Given the description of an element on the screen output the (x, y) to click on. 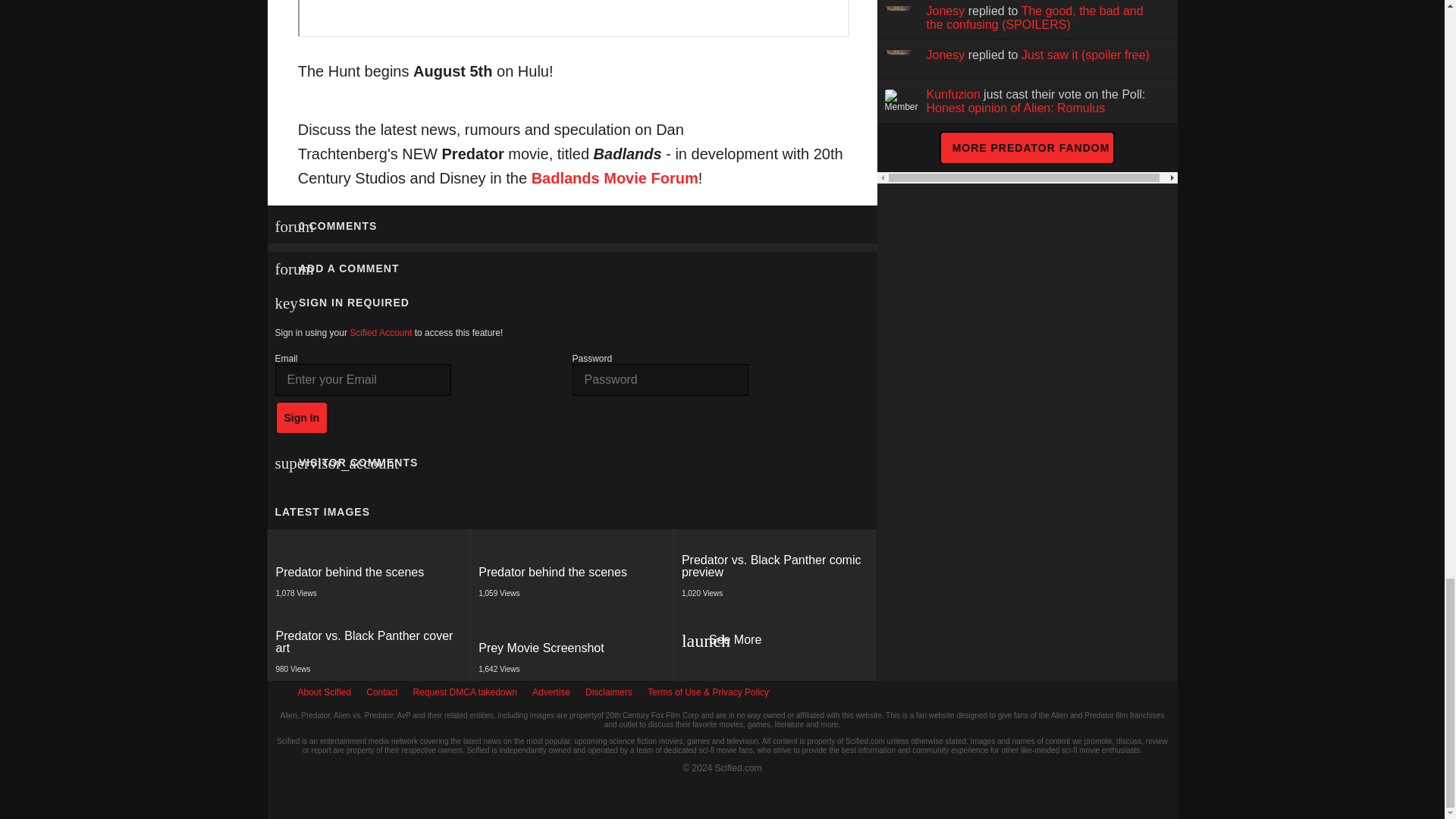
See More (774, 642)
Sign In (302, 417)
Scified Account (380, 332)
Prey Movie Screenshot (774, 567)
Predator behind the scenes Image (572, 647)
What is a Scified Account (369, 572)
Predator behind the scenes (380, 332)
